Given the description of an element on the screen output the (x, y) to click on. 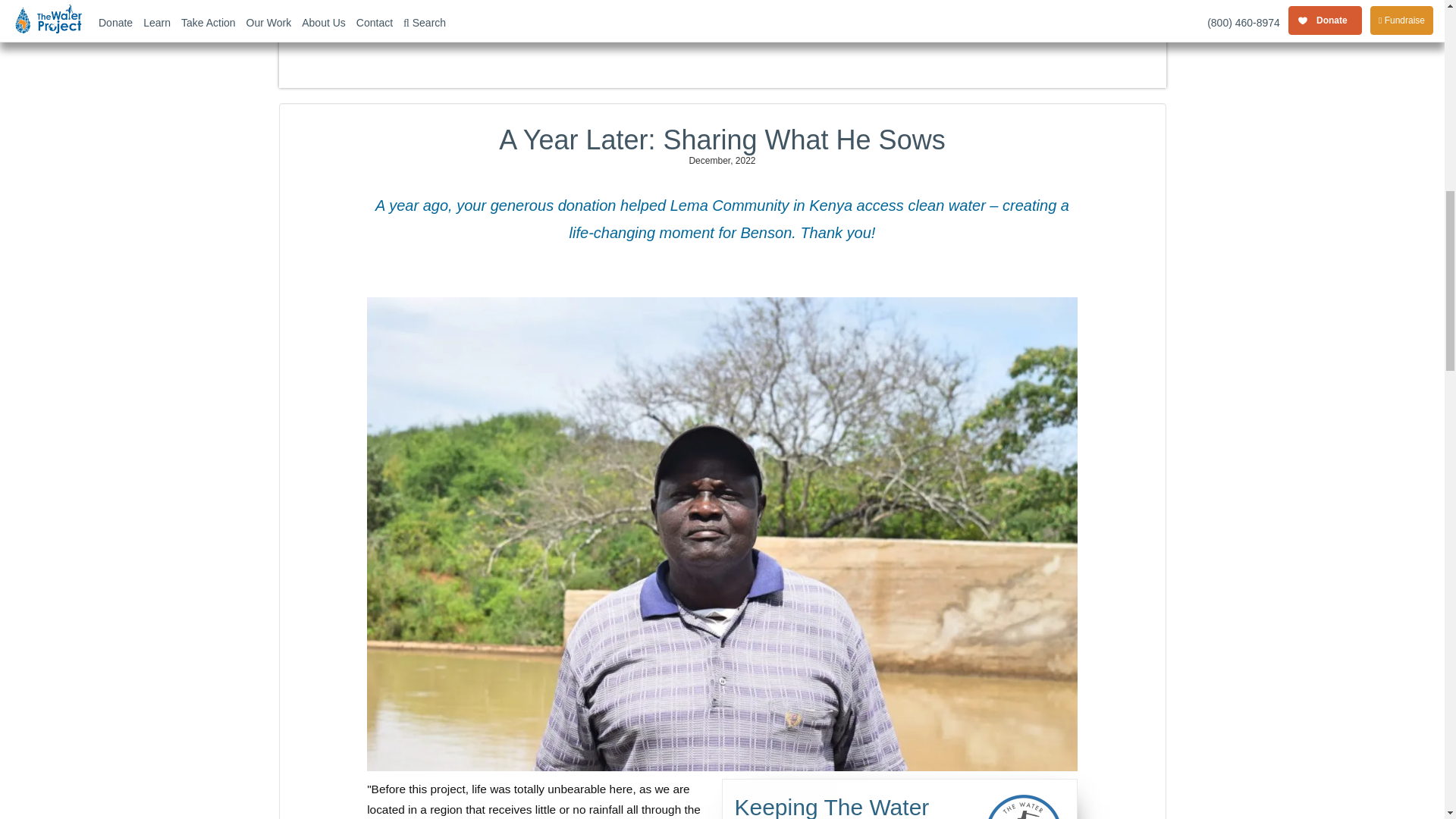
Local Leadership (654, 1)
Agricultural Assistance (742, 1)
Hygiene and Sanitation Training (787, 1)
Monitoring and Resolution (831, 1)
Sand Dam (609, 8)
Sand Dam (609, 1)
Community Engagement (698, 1)
